Given the description of an element on the screen output the (x, y) to click on. 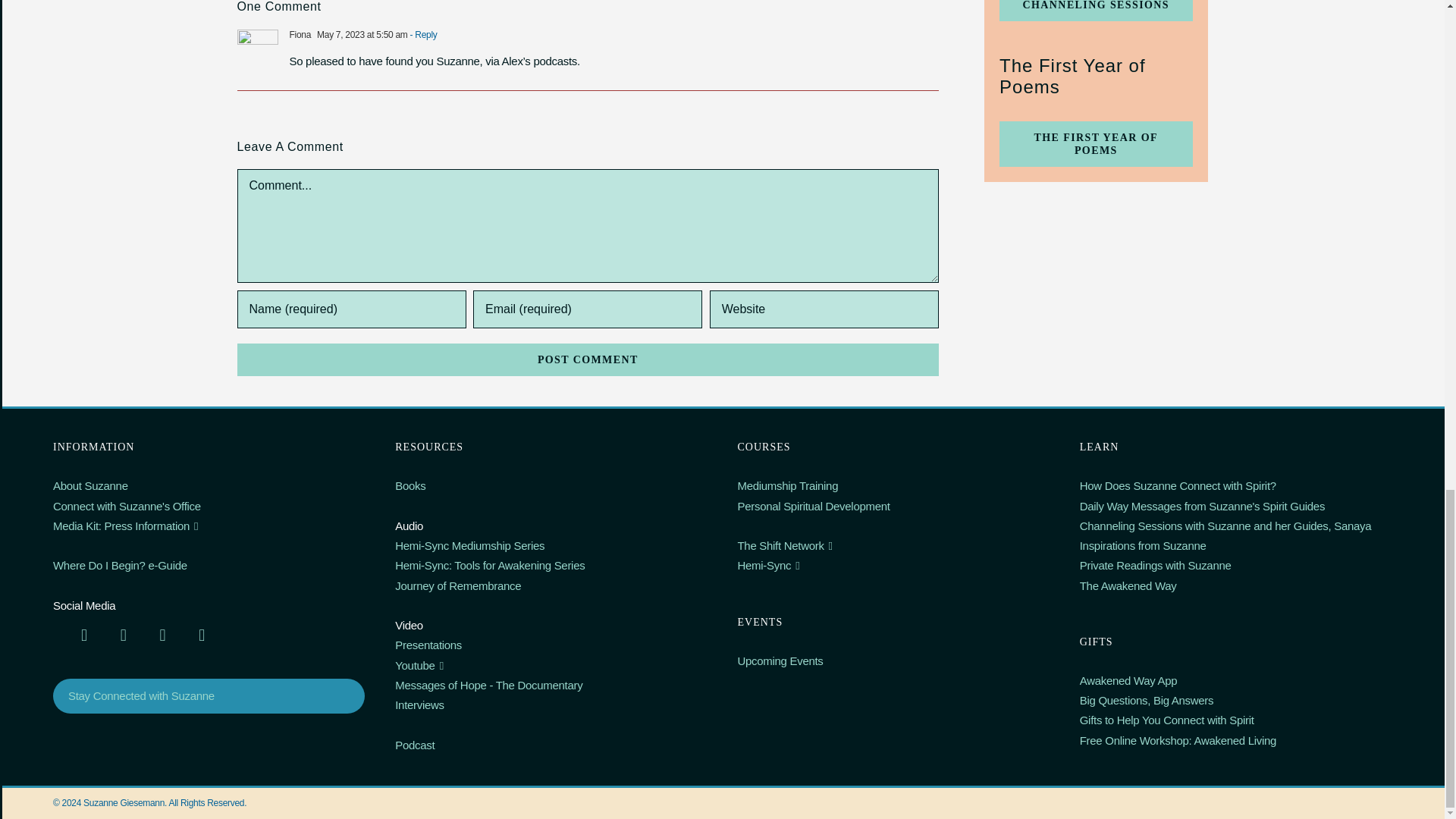
Post Comment (587, 359)
